Given the description of an element on the screen output the (x, y) to click on. 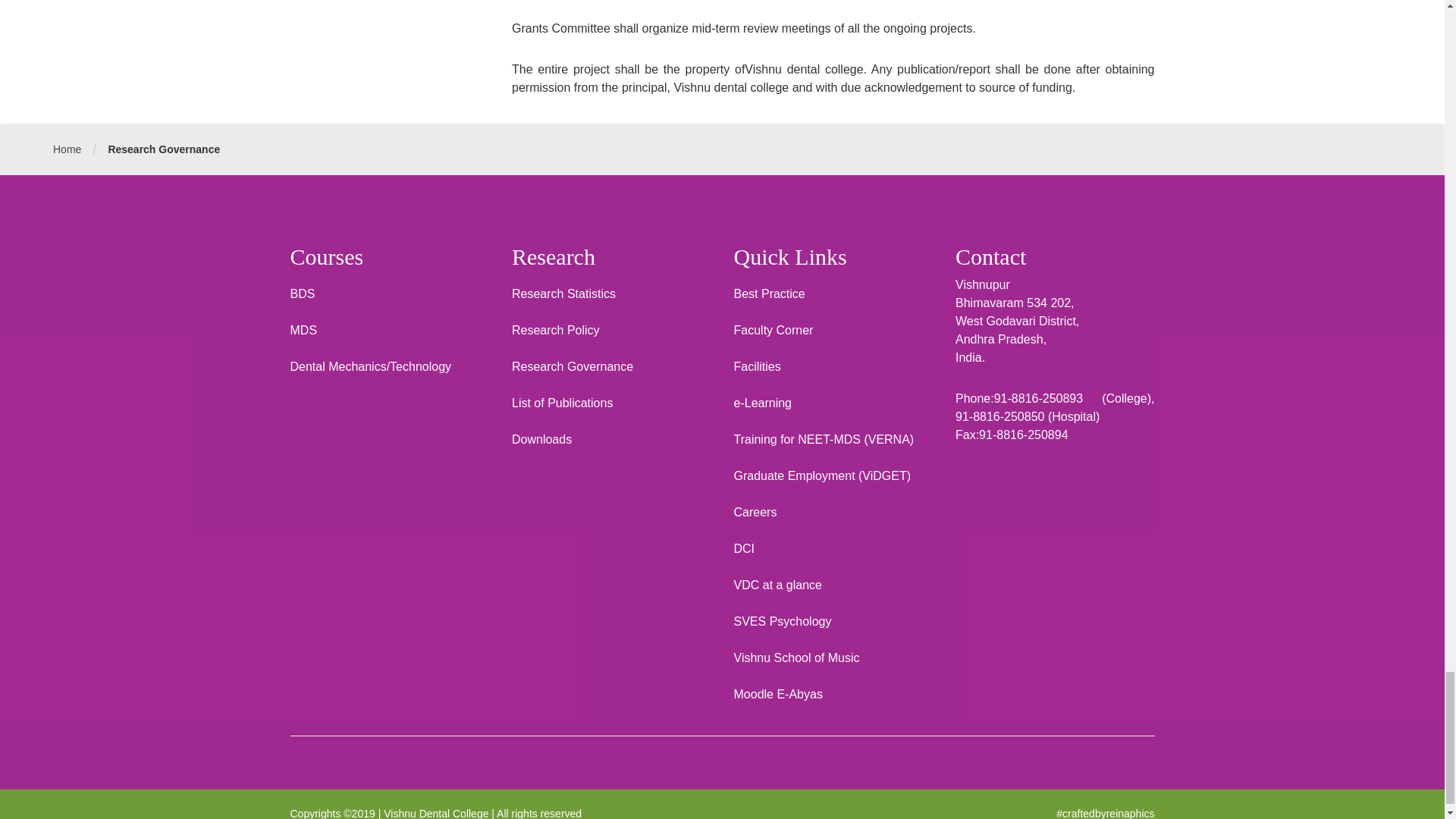
Home (66, 149)
